Given the description of an element on the screen output the (x, y) to click on. 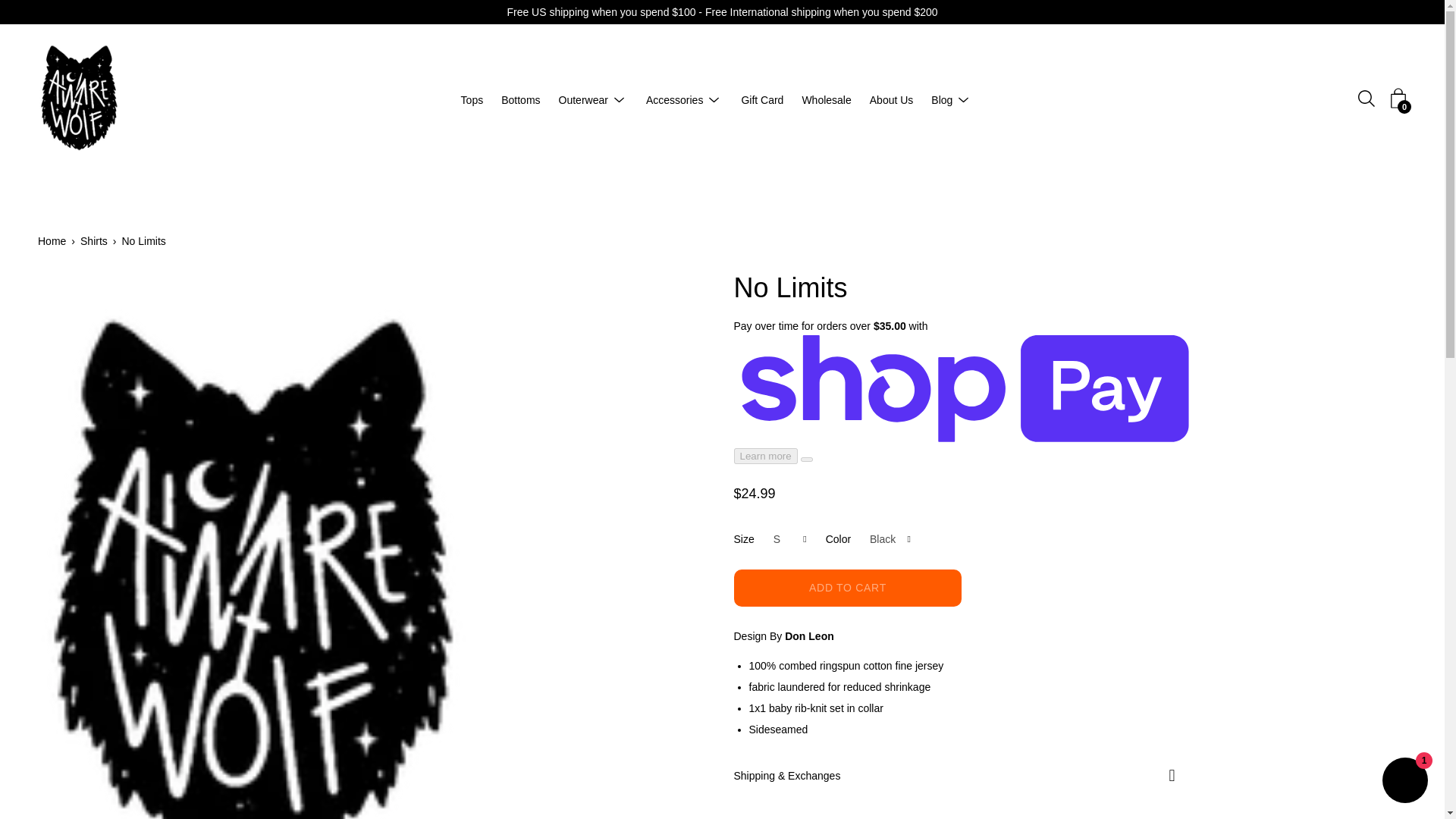
Tops (472, 99)
Bottoms (520, 99)
Page 1 (961, 697)
Outerwear (583, 99)
Go back to Home page (54, 240)
Shopify online store chat (1404, 781)
